Given the description of an element on the screen output the (x, y) to click on. 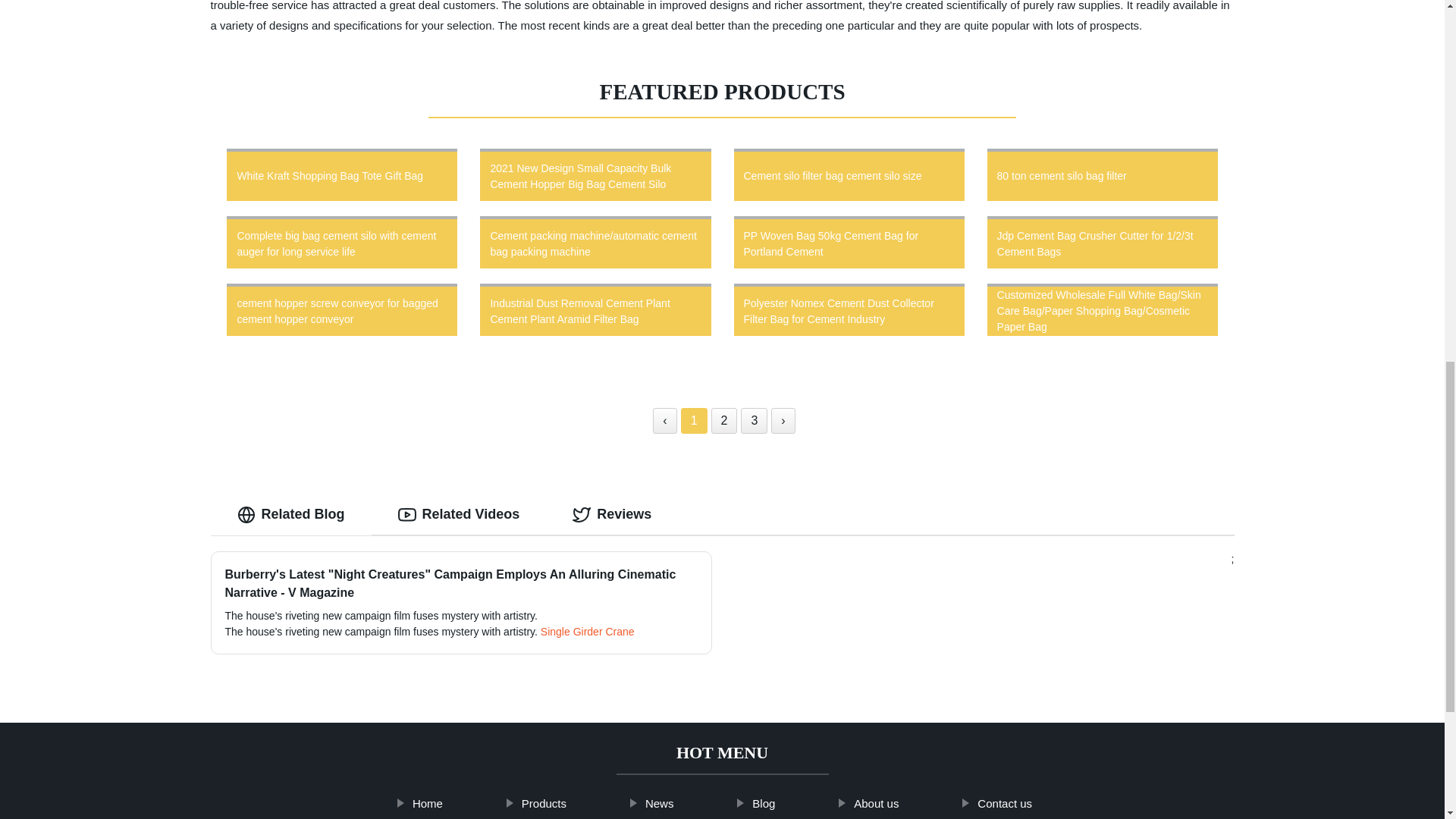
Cement silo filter bag cement silo size (848, 174)
80 ton cement silo bag filter (1101, 174)
White Kraft Shopping Bag Tote Gift Bag (341, 174)
PP Woven Bag 50kg Cement Bag for Portland Cement (848, 242)
